Given the description of an element on the screen output the (x, y) to click on. 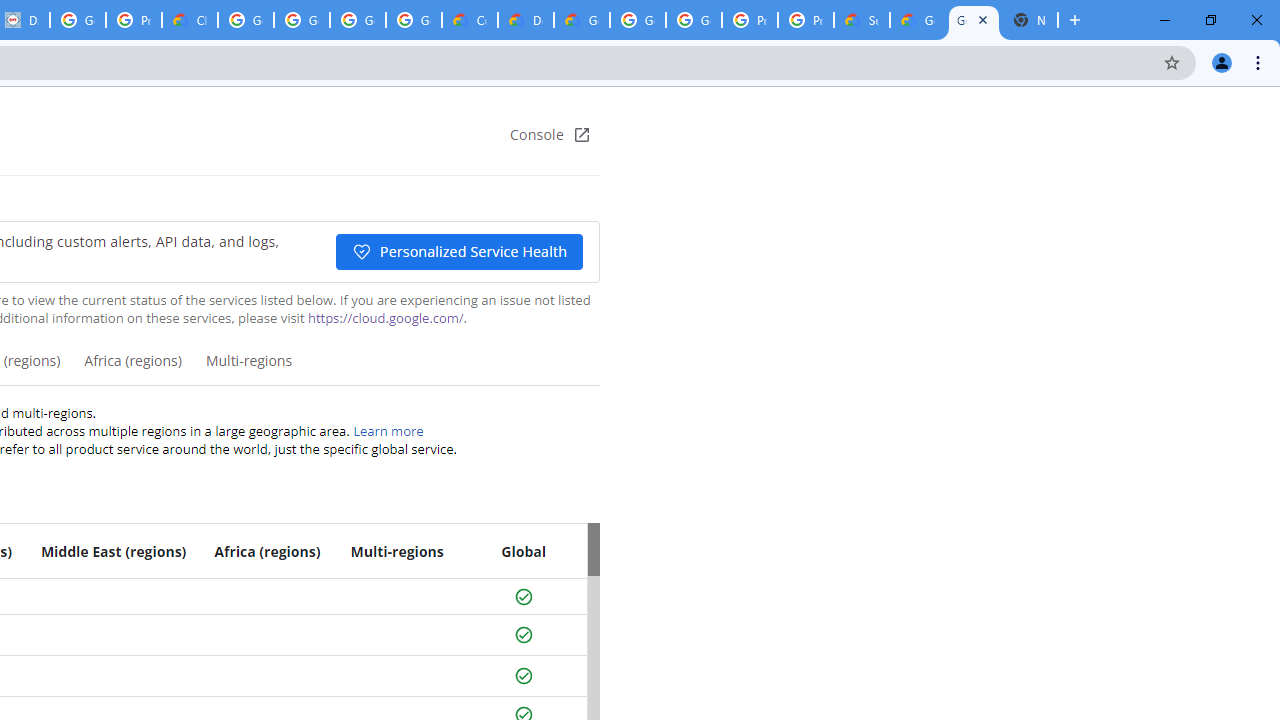
Africa (regions) (132, 368)
Multi-regions (248, 368)
